Given the description of an element on the screen output the (x, y) to click on. 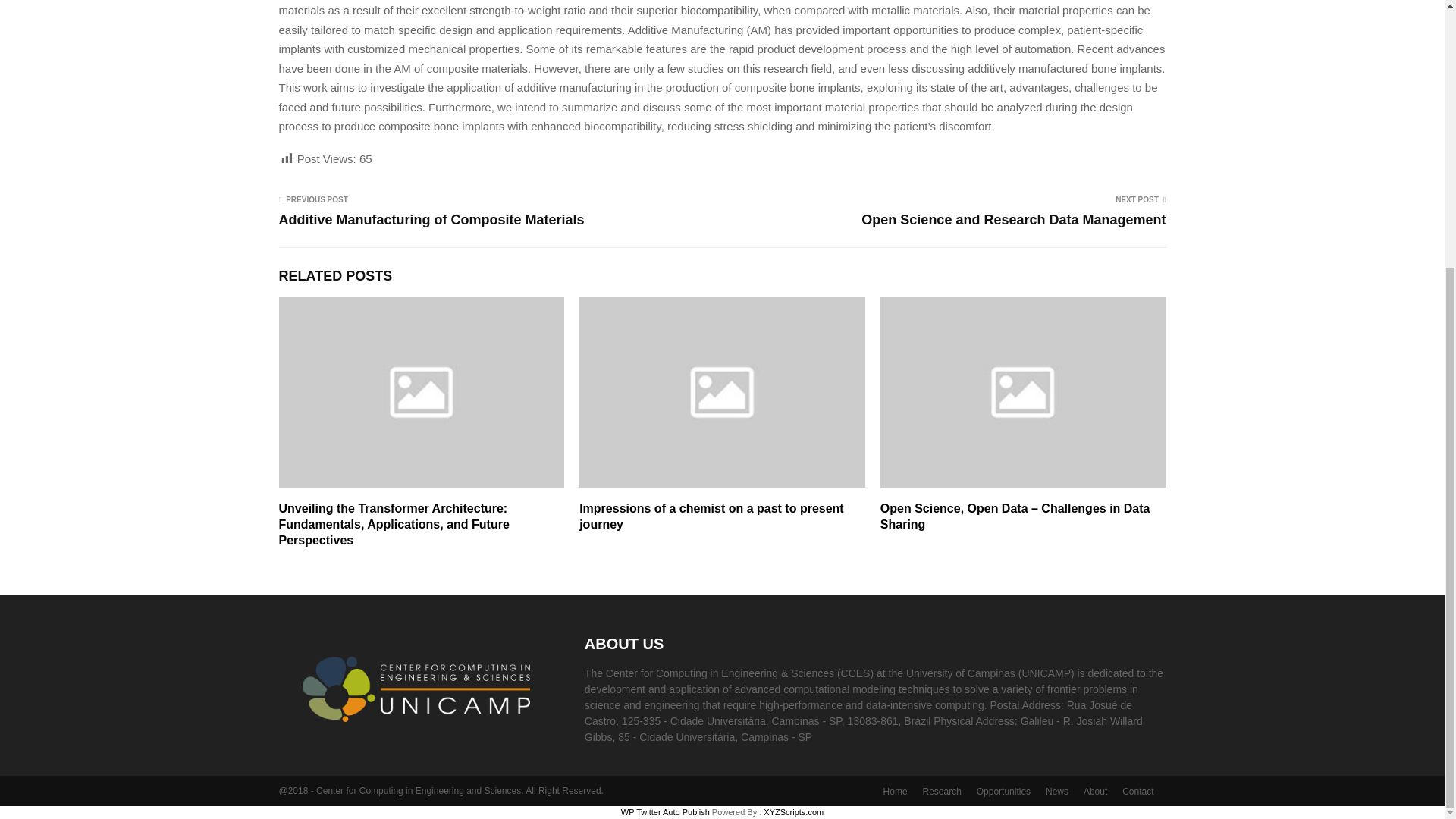
Impressions of a chemist on a past to present journey (711, 516)
WP Twitter Auto Publish (665, 811)
Open Science and Research Data Management (1013, 219)
Additive Manufacturing of Composite Materials (432, 219)
